Given the description of an element on the screen output the (x, y) to click on. 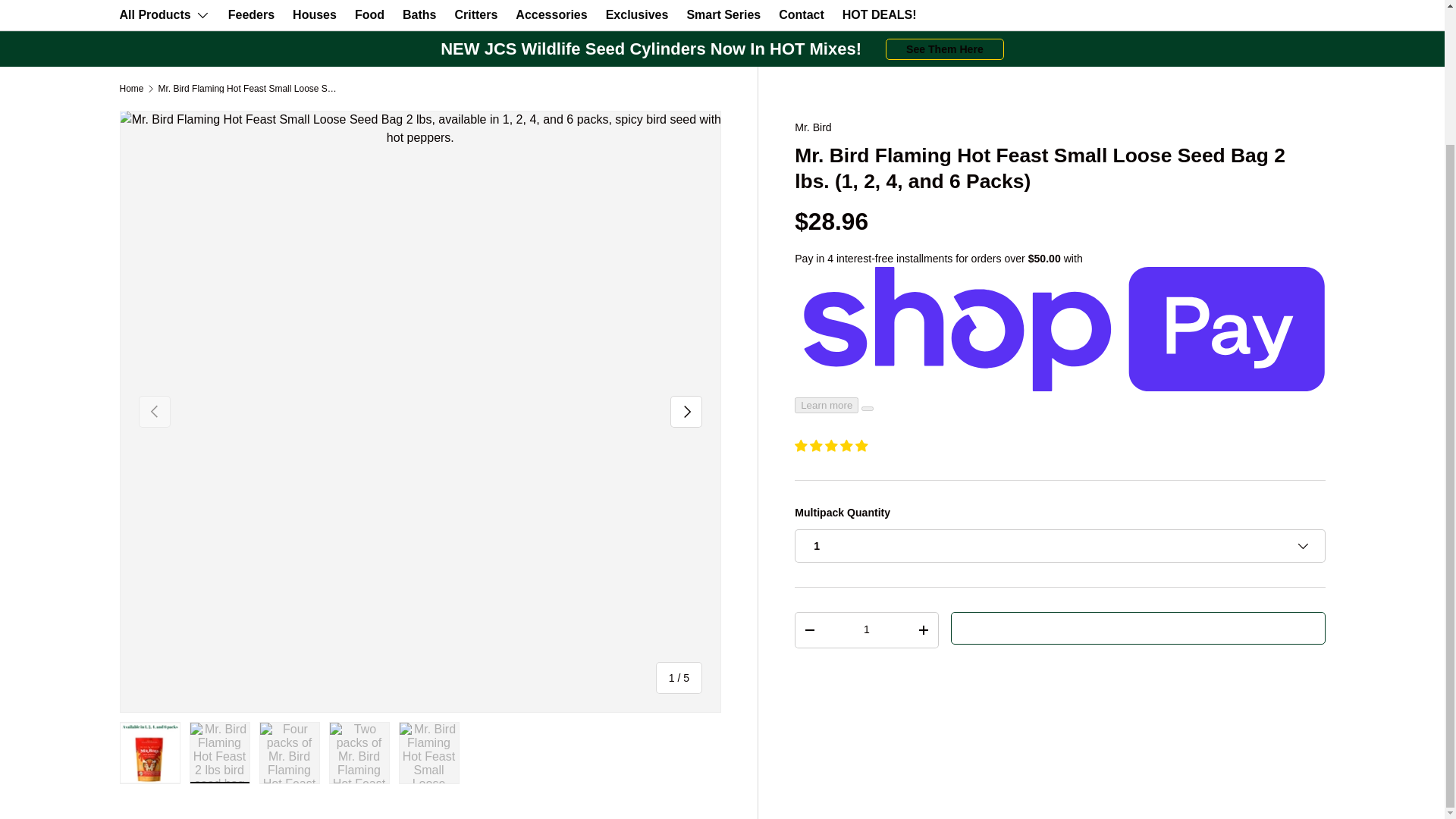
All Products (164, 15)
See Them Here (944, 49)
Load image 2 in gallery view (219, 752)
Smart Series (722, 14)
Previous (154, 411)
Next (685, 411)
Feeders (251, 14)
Load image 1 in gallery view (149, 752)
Food (369, 14)
1 (866, 629)
